Given the description of an element on the screen output the (x, y) to click on. 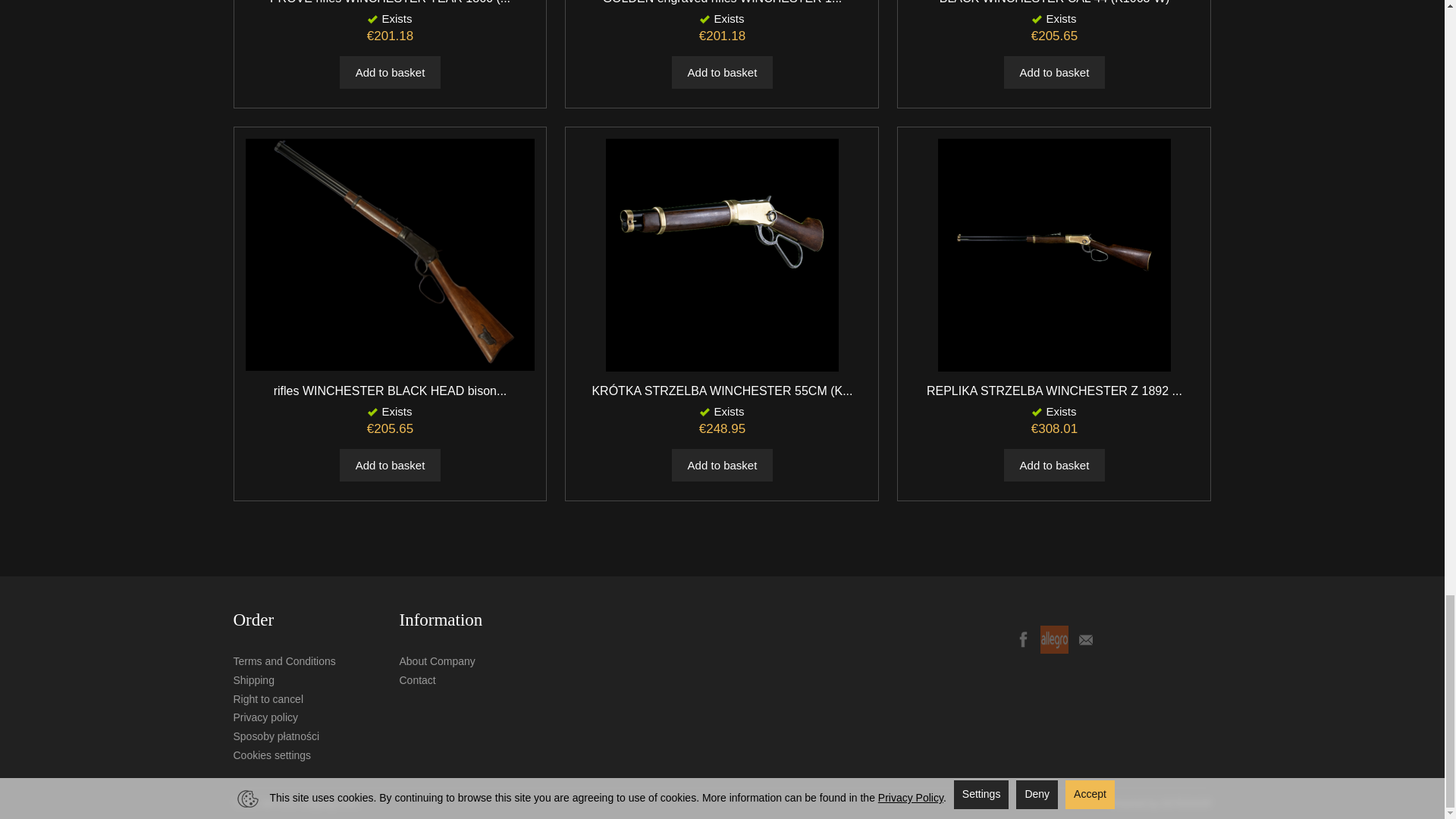
SOTESHOP (1185, 803)
